Given the description of an element on the screen output the (x, y) to click on. 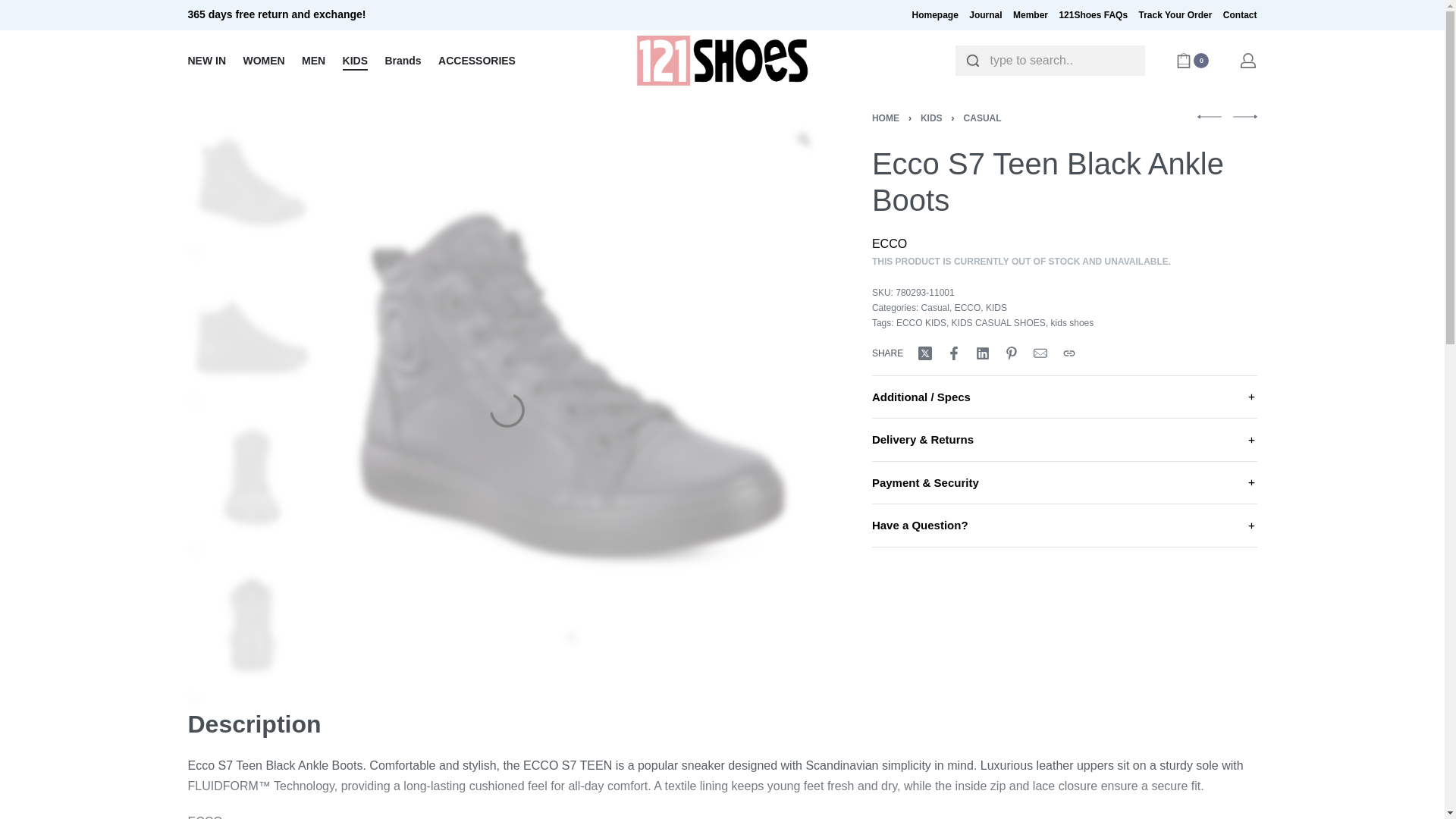
OPEN GALLERY (194, 401)
121Shoes FAQs (1092, 14)
NEW IN (207, 61)
Track Your Order (1175, 14)
365 days free return and exchange! (449, 14)
Contact (1240, 14)
78029311001-2 (251, 326)
Homepage (934, 14)
Member (1030, 14)
OPEN GALLERY (572, 638)
WOMEN (263, 61)
78029311001-1 (251, 177)
Journal (985, 14)
OPEN GALLERY (194, 253)
